Given the description of an element on the screen output the (x, y) to click on. 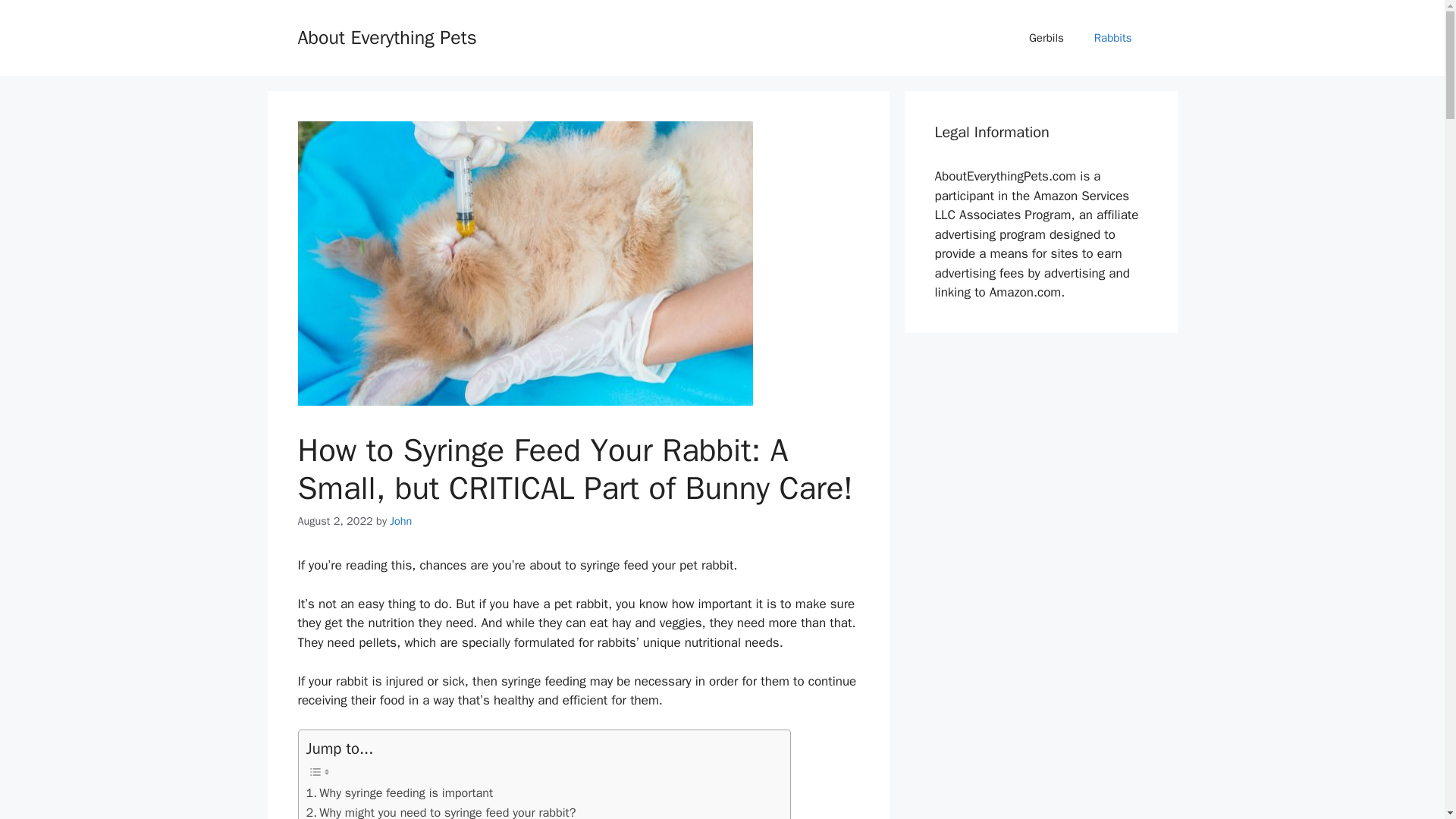
Gerbils (1045, 37)
Why might you need to syringe feed your rabbit? (440, 811)
Rabbits (1112, 37)
About Everything Pets (386, 37)
Why syringe feeding is important (399, 792)
Why might you need to syringe feed your rabbit? (440, 811)
John (401, 520)
Why syringe feeding is important (399, 792)
View all posts by John (401, 520)
